Given the description of an element on the screen output the (x, y) to click on. 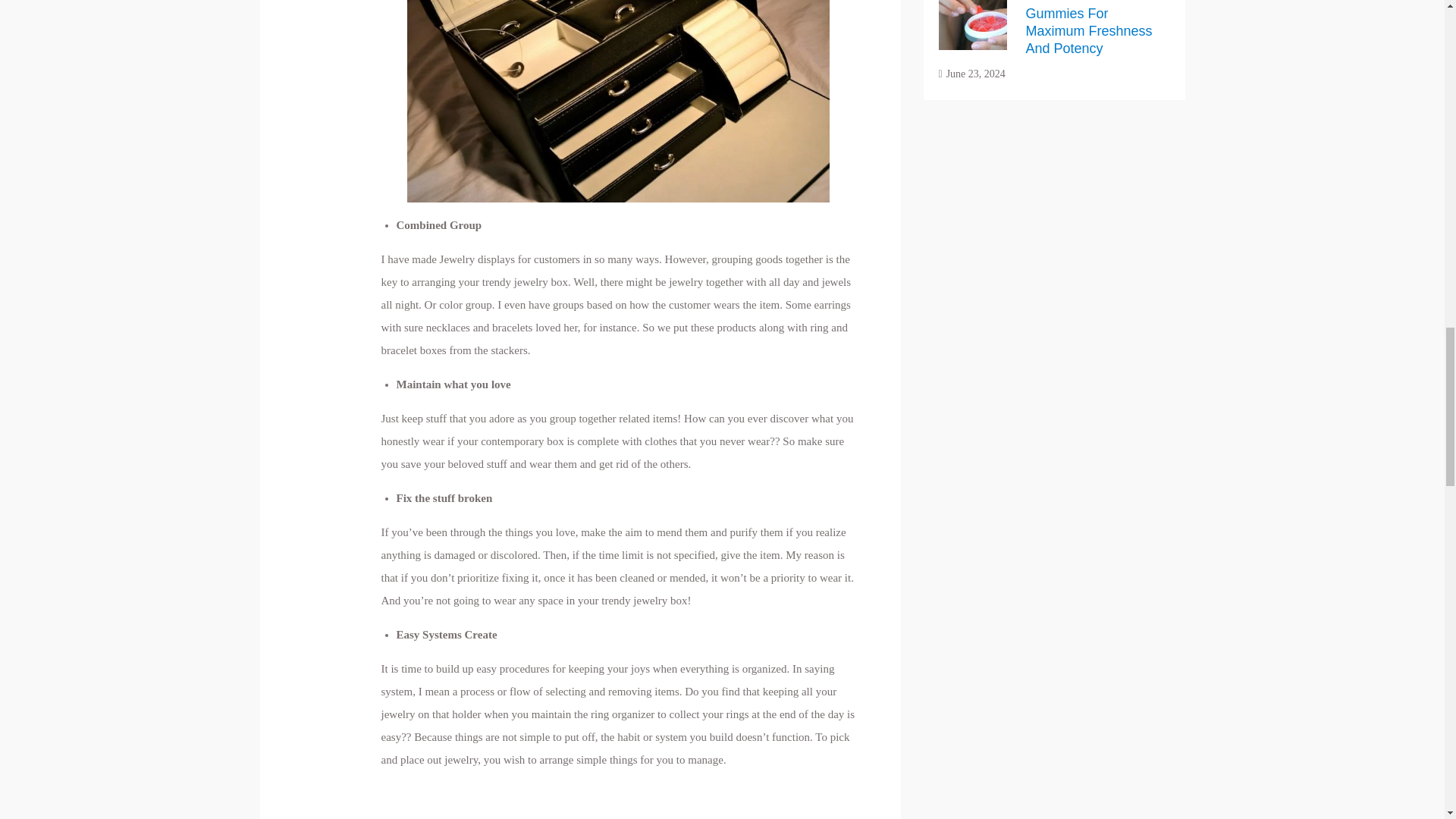
How To Store THCP Gummies For Maximum Freshness And Potency (1088, 28)
